Given the description of an element on the screen output the (x, y) to click on. 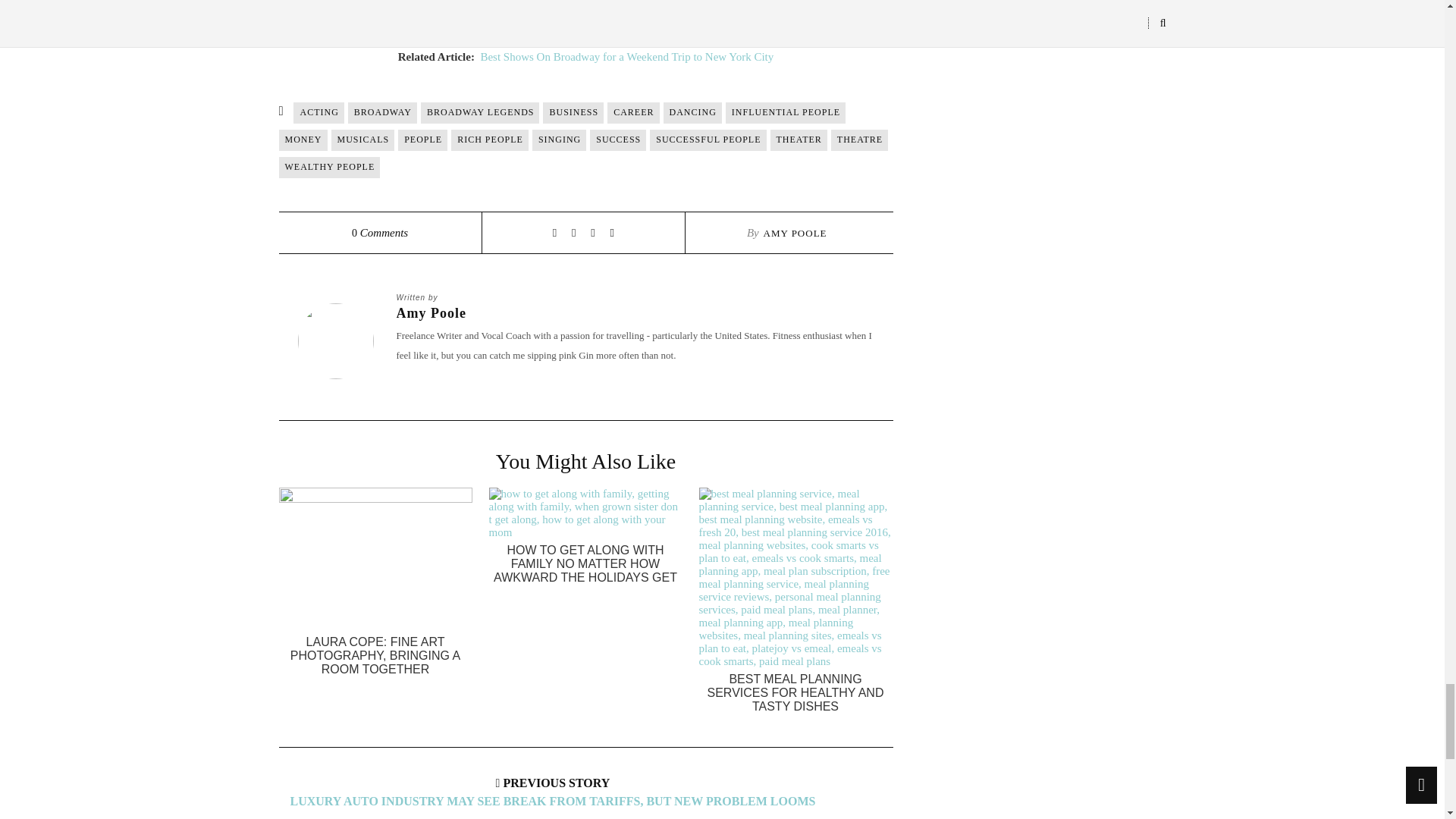
BROADWAY LEGENDS (479, 112)
Posts by Amy Poole (634, 313)
SUCCESSFUL PEOPLE (707, 139)
CAREER (633, 112)
DANCING (692, 112)
PEOPLE (421, 139)
BROADWAY (381, 112)
ACTING (318, 112)
Best Shows On Broadway for a Weekend Trip to New York City (626, 56)
INFLUENTIAL PEOPLE (785, 112)
